Given the description of an element on the screen output the (x, y) to click on. 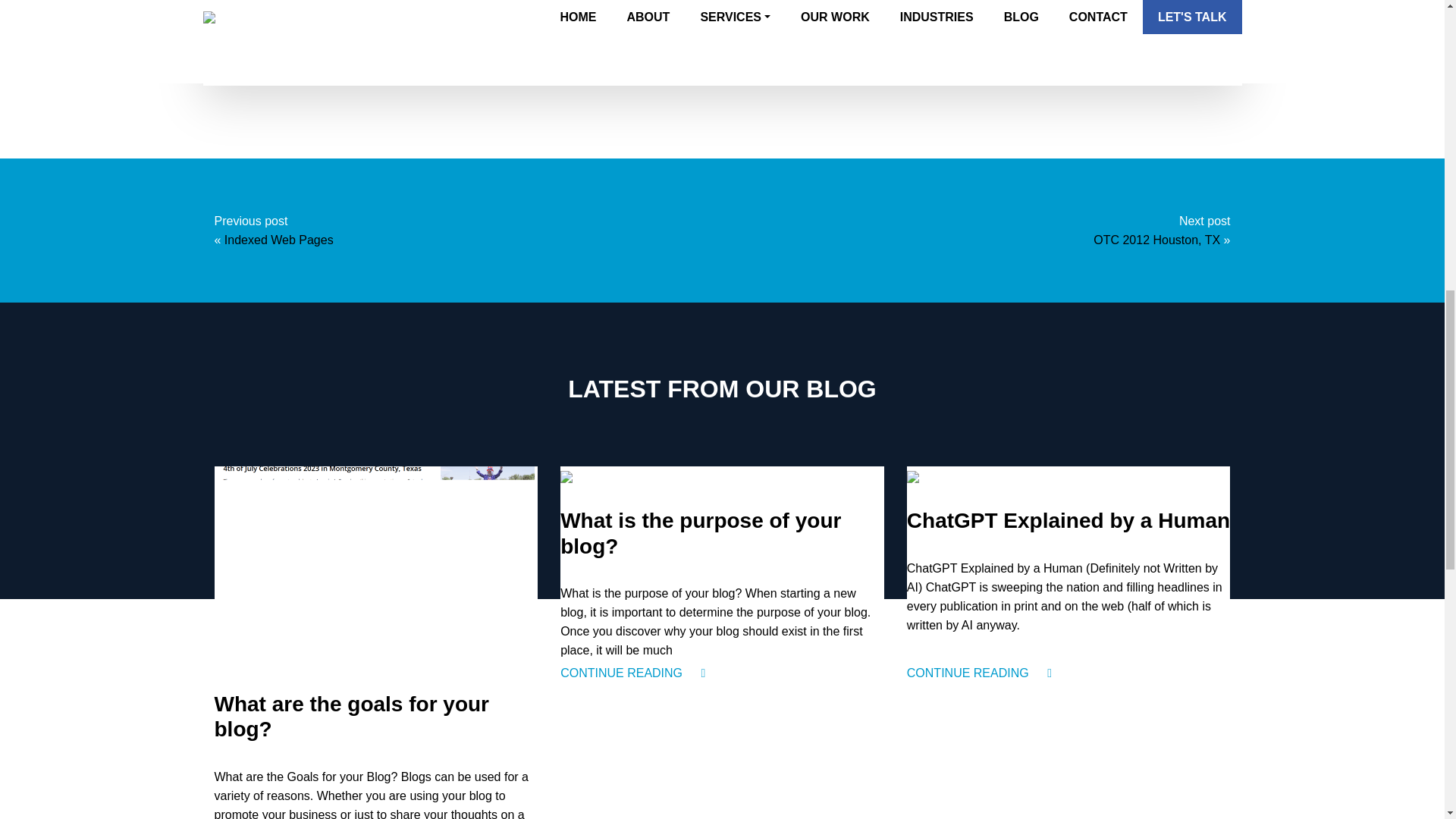
CONTINUE READING (979, 672)
OTC 2012 Houston, TX (1156, 239)
Fort Bend Toyota (351, 45)
CONTINUE READING (632, 672)
Indexed Web Pages (278, 239)
